Given the description of an element on the screen output the (x, y) to click on. 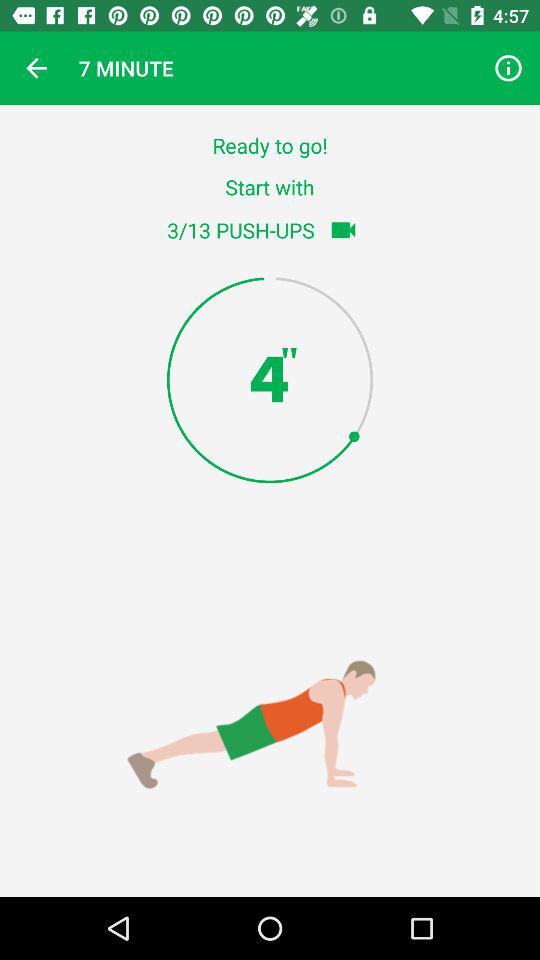
press item next to 7 minute item (508, 67)
